Given the description of an element on the screen output the (x, y) to click on. 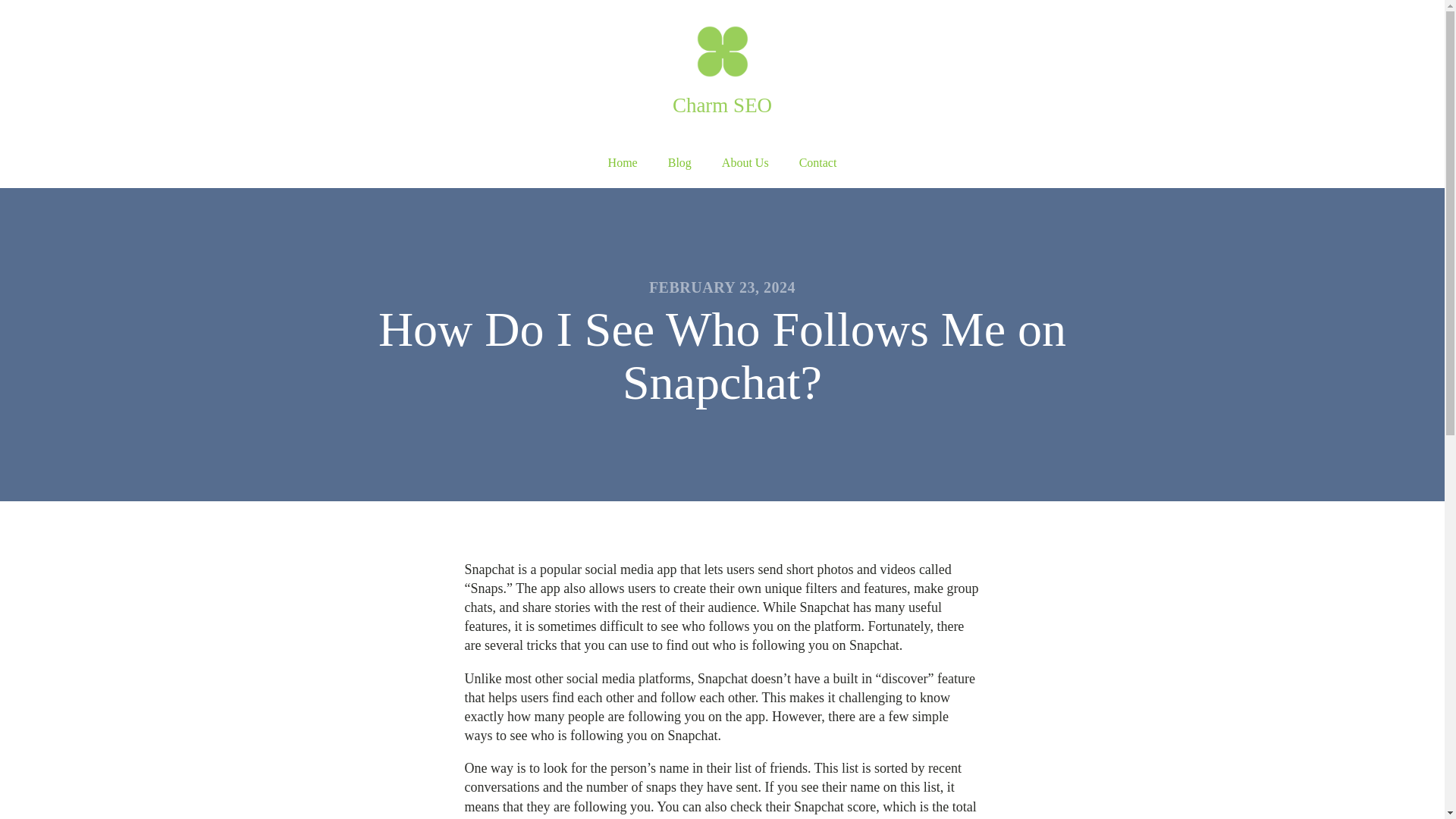
About Us (745, 163)
Blog (679, 163)
Contact (817, 163)
Home (622, 163)
